Given the description of an element on the screen output the (x, y) to click on. 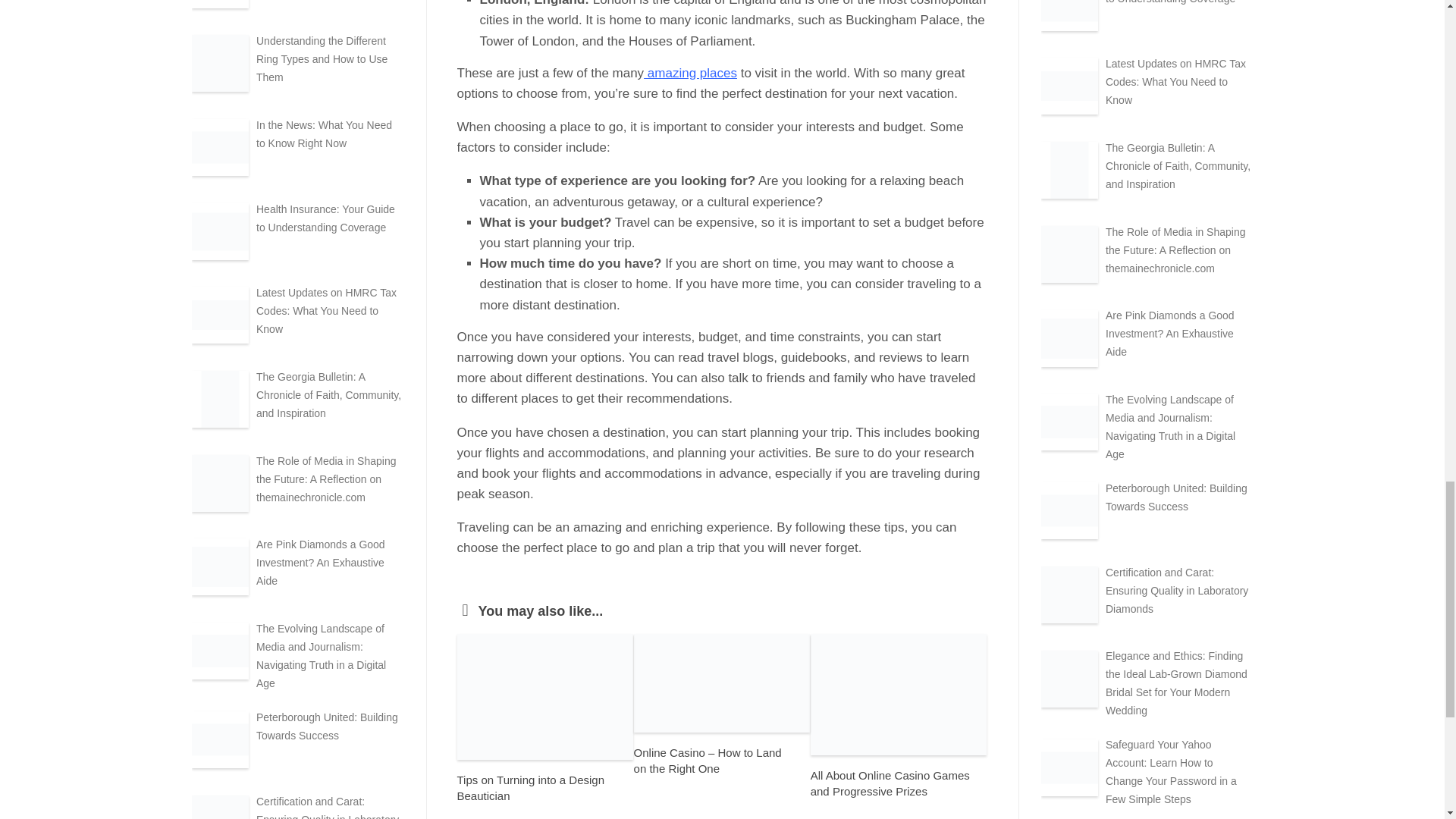
All About Online Casino Games and Progressive Prizes (889, 783)
are pink diamonds a good investment (218, 566)
are pink diamonds a good investment (1069, 337)
Understanding the Different Ring Types and How to Use Them (321, 59)
Latest Updates on HMRC Tax Codes: What You Need to Know (326, 310)
amazing places (689, 73)
Health Insurance: Your Guide to Understanding Coverage (325, 218)
In the News: What You Need to Know Right Now (323, 133)
Are Pink Diamonds a Good Investment? An Exhaustive Aide (320, 562)
Tips on Turning into a Design Beautician (530, 787)
